Given the description of an element on the screen output the (x, y) to click on. 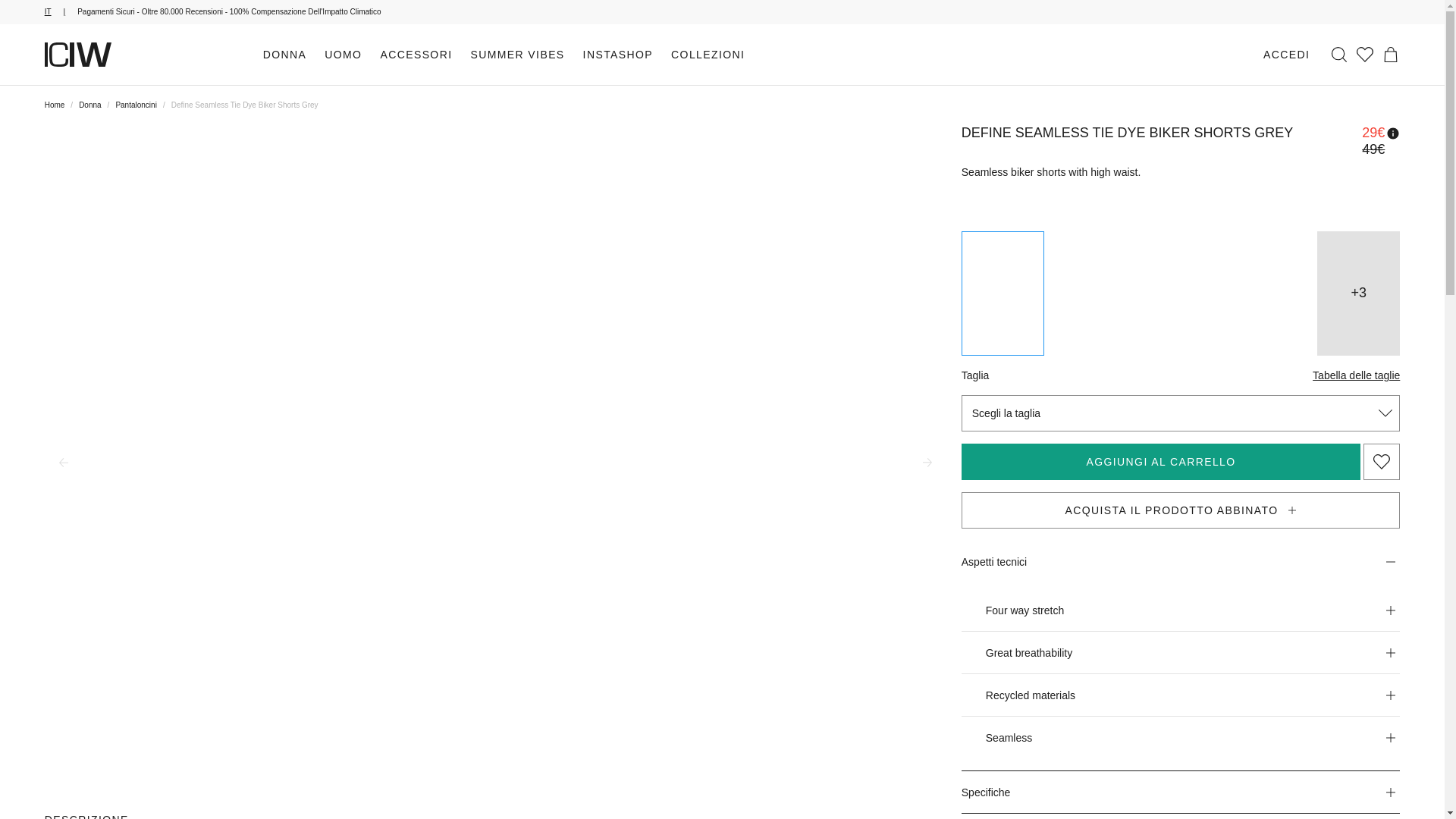
IT (61, 11)
